Given the description of an element on the screen output the (x, y) to click on. 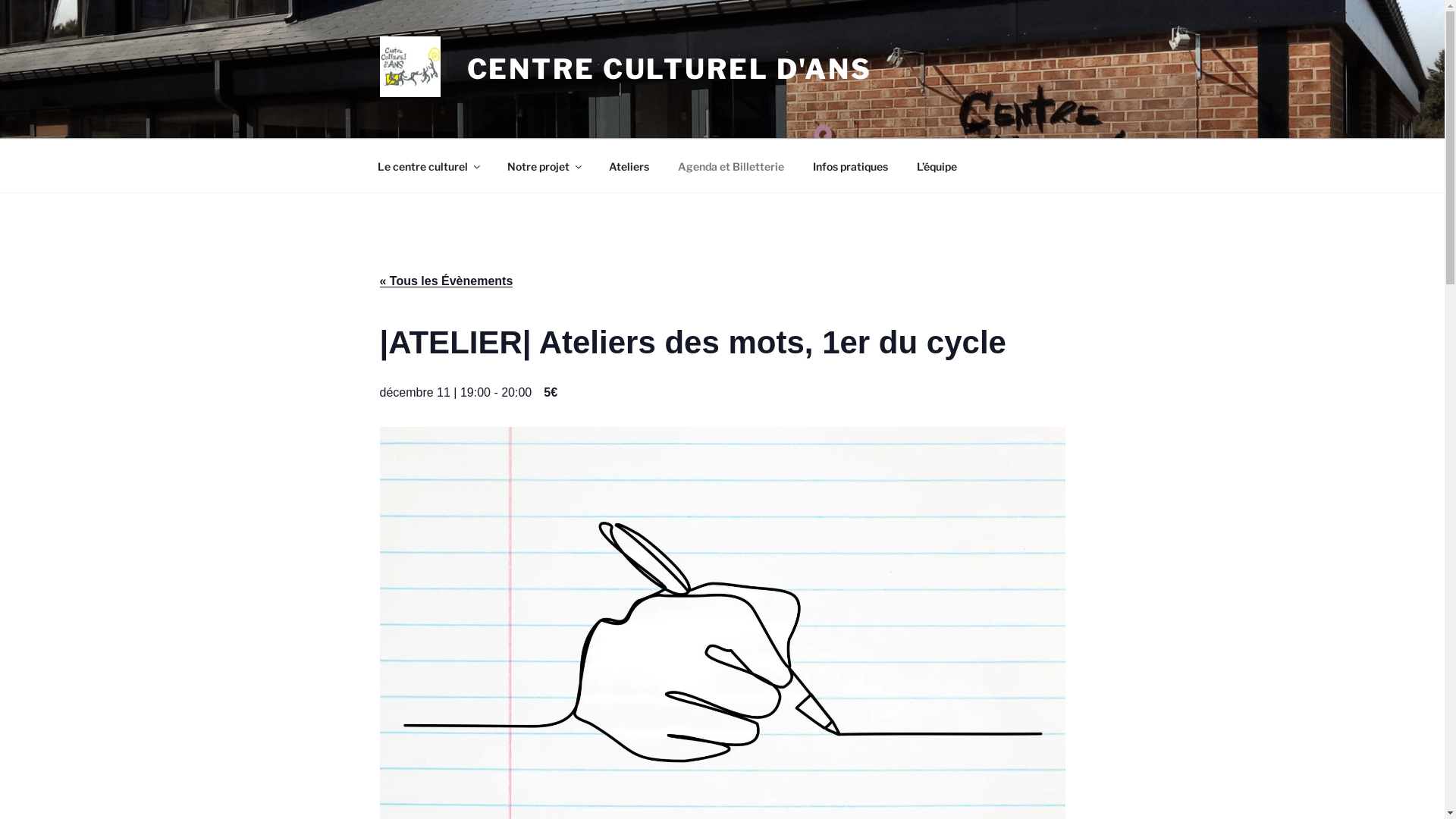
Agenda et Billetterie Element type: text (730, 165)
Le centre culturel Element type: text (427, 165)
Ateliers Element type: text (629, 165)
CENTRE CULTUREL D'ANS Element type: text (669, 68)
Notre projet Element type: text (543, 165)
Infos pratiques Element type: text (849, 165)
